Given the description of an element on the screen output the (x, y) to click on. 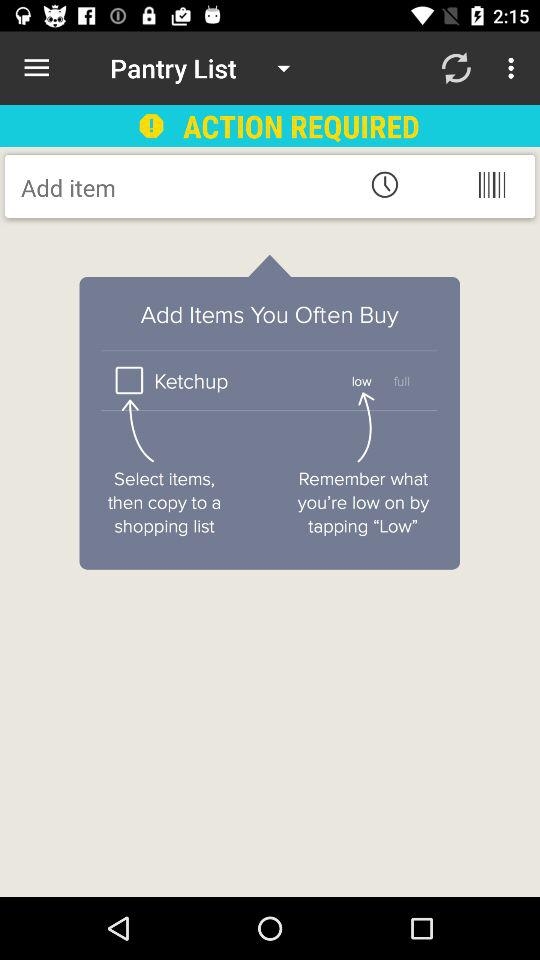
clock button (384, 184)
